Given the description of an element on the screen output the (x, y) to click on. 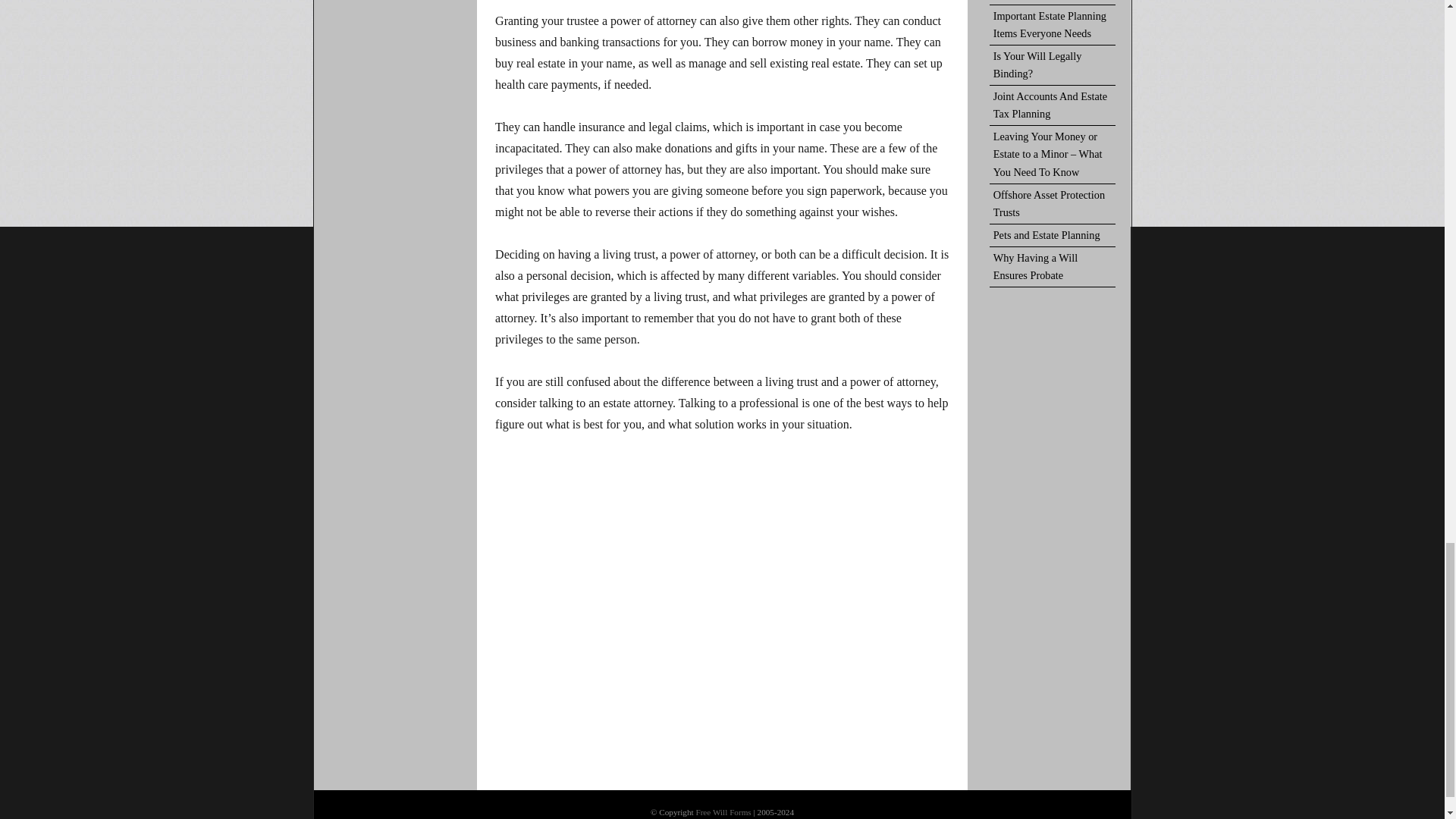
Important Estate Planning Items Everyone Needs (1053, 24)
Is Your Will Legally Binding? (1053, 65)
